Given the description of an element on the screen output the (x, y) to click on. 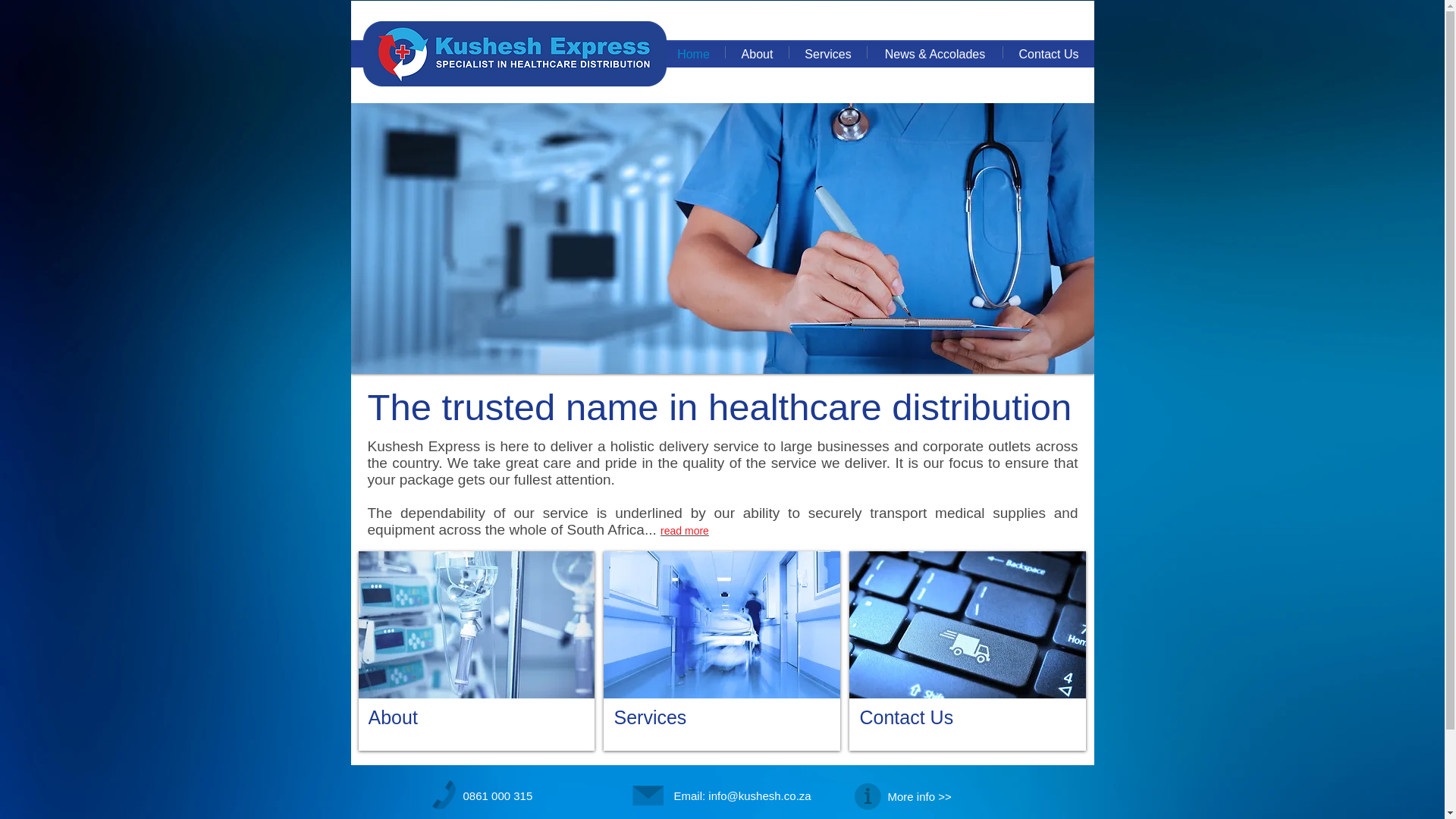
Contact Us (967, 651)
Contact Us (1048, 51)
read more (685, 530)
About (476, 651)
Services (722, 651)
Home (693, 51)
Services (827, 51)
About (757, 51)
